Given the description of an element on the screen output the (x, y) to click on. 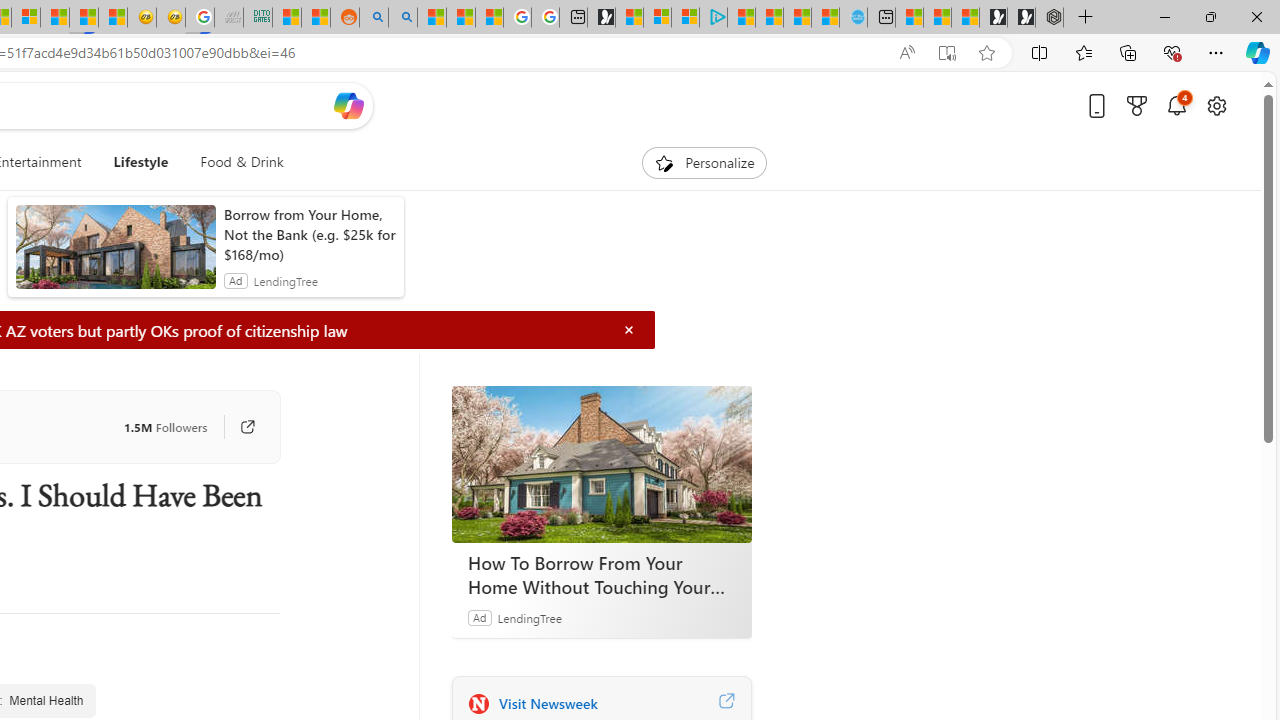
Hide (629, 329)
Open settings (1216, 105)
Microsoft Start Gaming (601, 17)
anim-content (115, 255)
Nordace - Nordace Siena Is Not An Ordinary Backpack (1049, 17)
Food & Drink (234, 162)
How To Borrow From Your Home Without Touching Your Mortgage (601, 574)
